Given the description of an element on the screen output the (x, y) to click on. 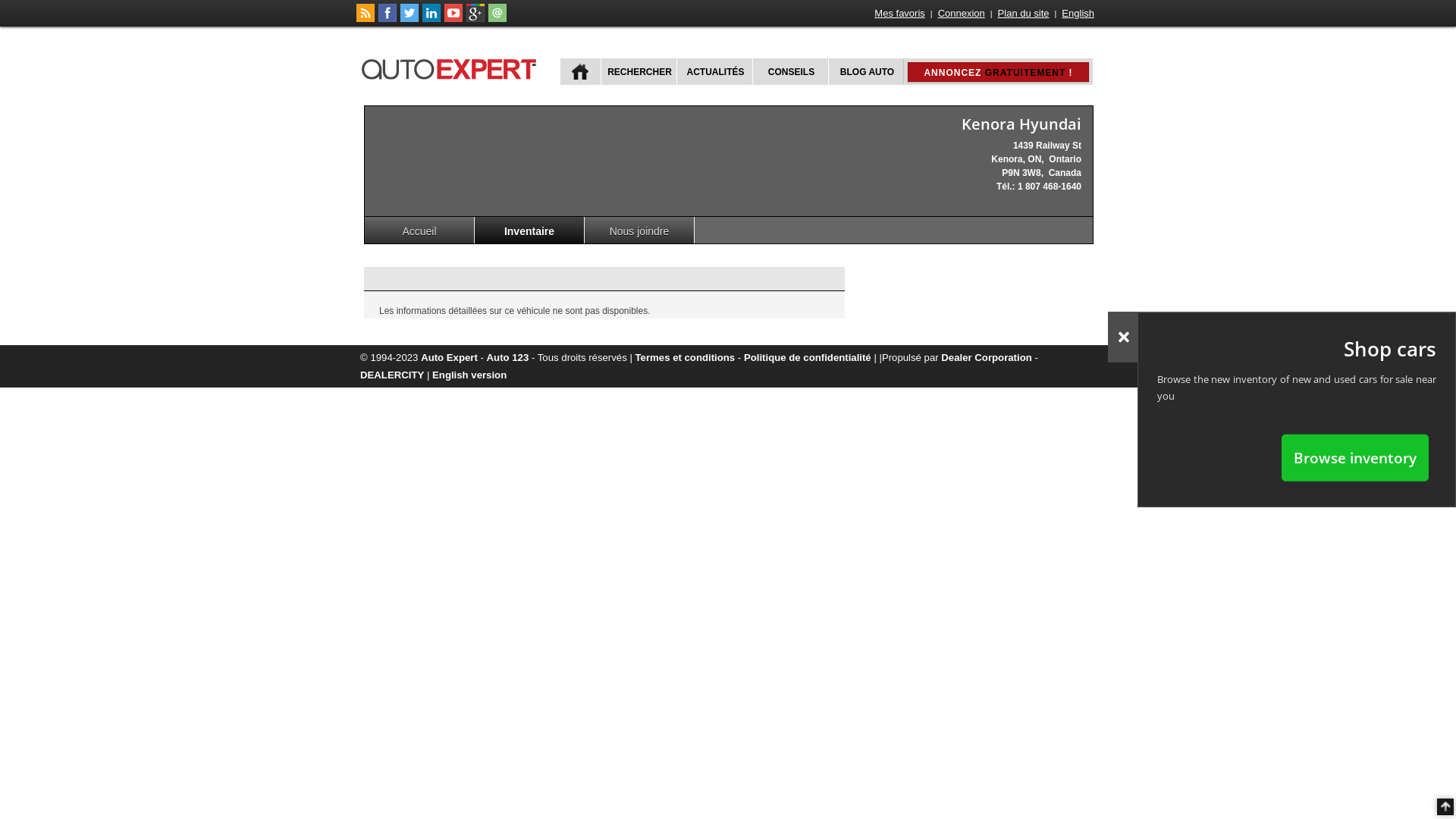
DEALERCITY Element type: text (391, 374)
Plan du site Element type: text (1023, 13)
ACCUEIL Element type: text (580, 71)
Suivez Publications Le Guide Inc. sur LinkedIn Element type: hover (431, 18)
Auto Expert Element type: text (448, 357)
Suivez autoExpert.ca sur Youtube Element type: hover (453, 18)
autoExpert.ca Element type: text (451, 66)
Dealer Corporation Element type: text (986, 357)
Connexion Element type: text (961, 13)
Browse inventory Element type: text (1354, 457)
Suivez autoExpert.ca sur Facebook Element type: hover (387, 18)
Suivez autoExpert.ca sur Twitter Element type: hover (409, 18)
English version Element type: text (469, 374)
Joindre autoExpert.ca Element type: hover (497, 18)
ANNONCEZ GRATUITEMENT ! Element type: text (997, 71)
Nous joindre Element type: text (639, 229)
English Element type: text (1077, 13)
Auto 123 Element type: text (507, 357)
Inventaire Element type: text (529, 229)
RECHERCHER Element type: text (637, 71)
Suivez autoExpert.ca sur Google Plus Element type: hover (475, 18)
CONSEILS Element type: text (789, 71)
Termes et conditions Element type: text (685, 357)
BLOG AUTO Element type: text (865, 71)
Mes favoris Element type: text (898, 13)
Accueil Element type: text (419, 229)
